Given the description of an element on the screen output the (x, y) to click on. 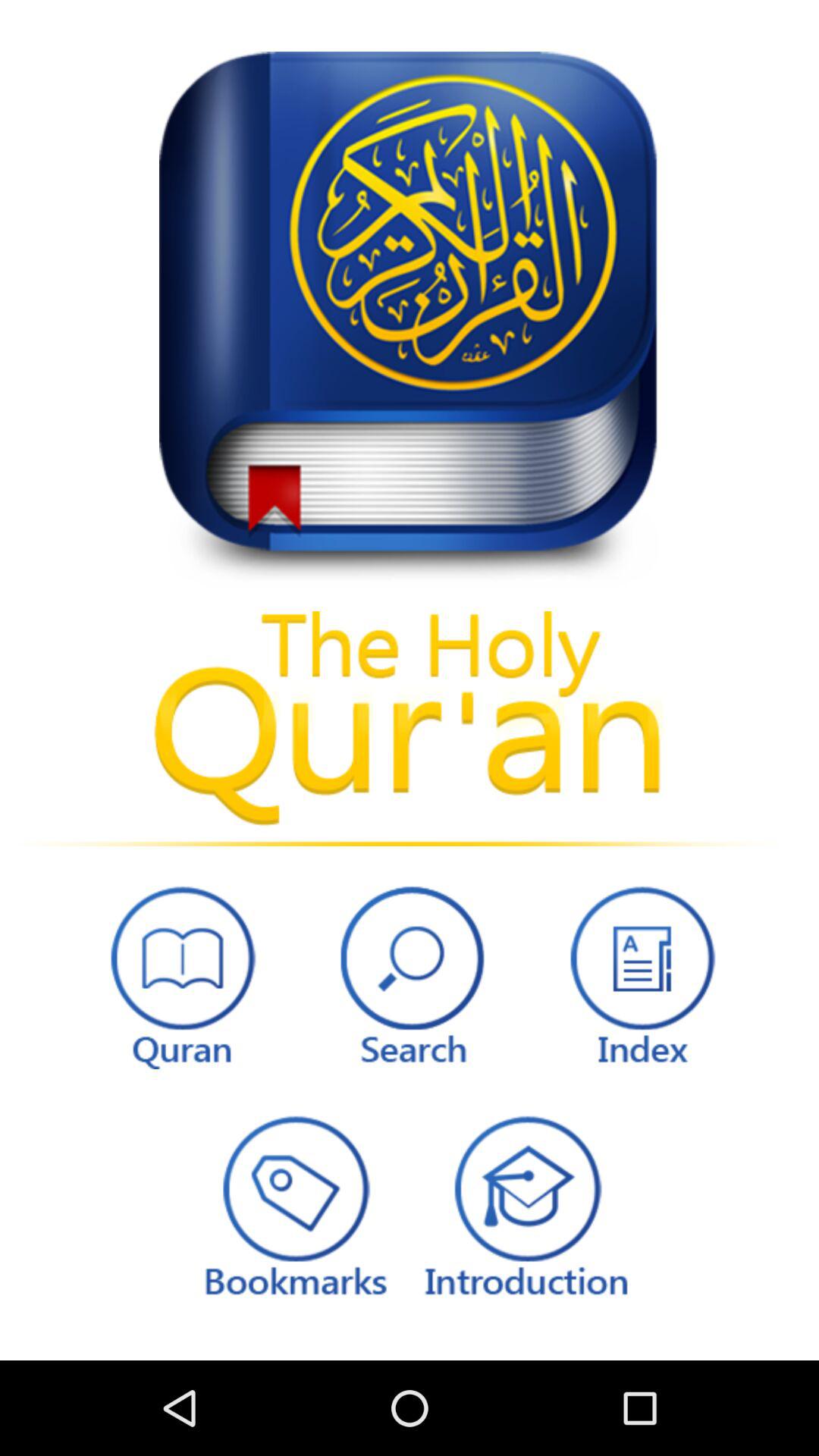
bookmark page (292, 1204)
